Given the description of an element on the screen output the (x, y) to click on. 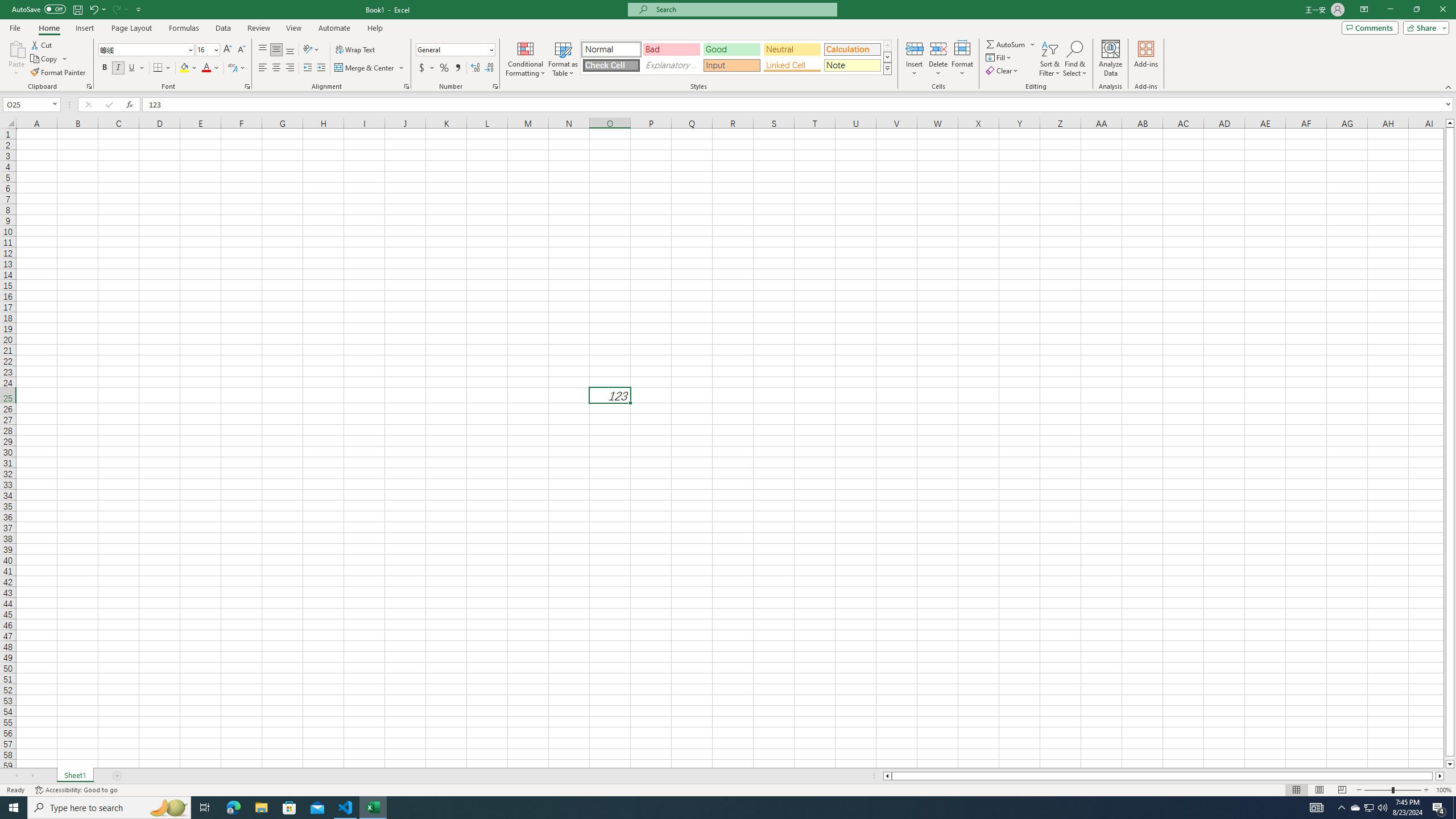
Merge & Center (369, 67)
Neutral (791, 49)
Paste (16, 58)
Format Cell Alignment (405, 85)
Restore Down (1416, 9)
Scroll Right (32, 775)
Undo (96, 9)
Row Down (887, 56)
Page down (1449, 758)
AutoSave (38, 9)
Format Painter (58, 72)
Column left (886, 775)
Format Cell Number (494, 85)
Decrease Font Size (240, 49)
Cell Styles (887, 68)
